Given the description of an element on the screen output the (x, y) to click on. 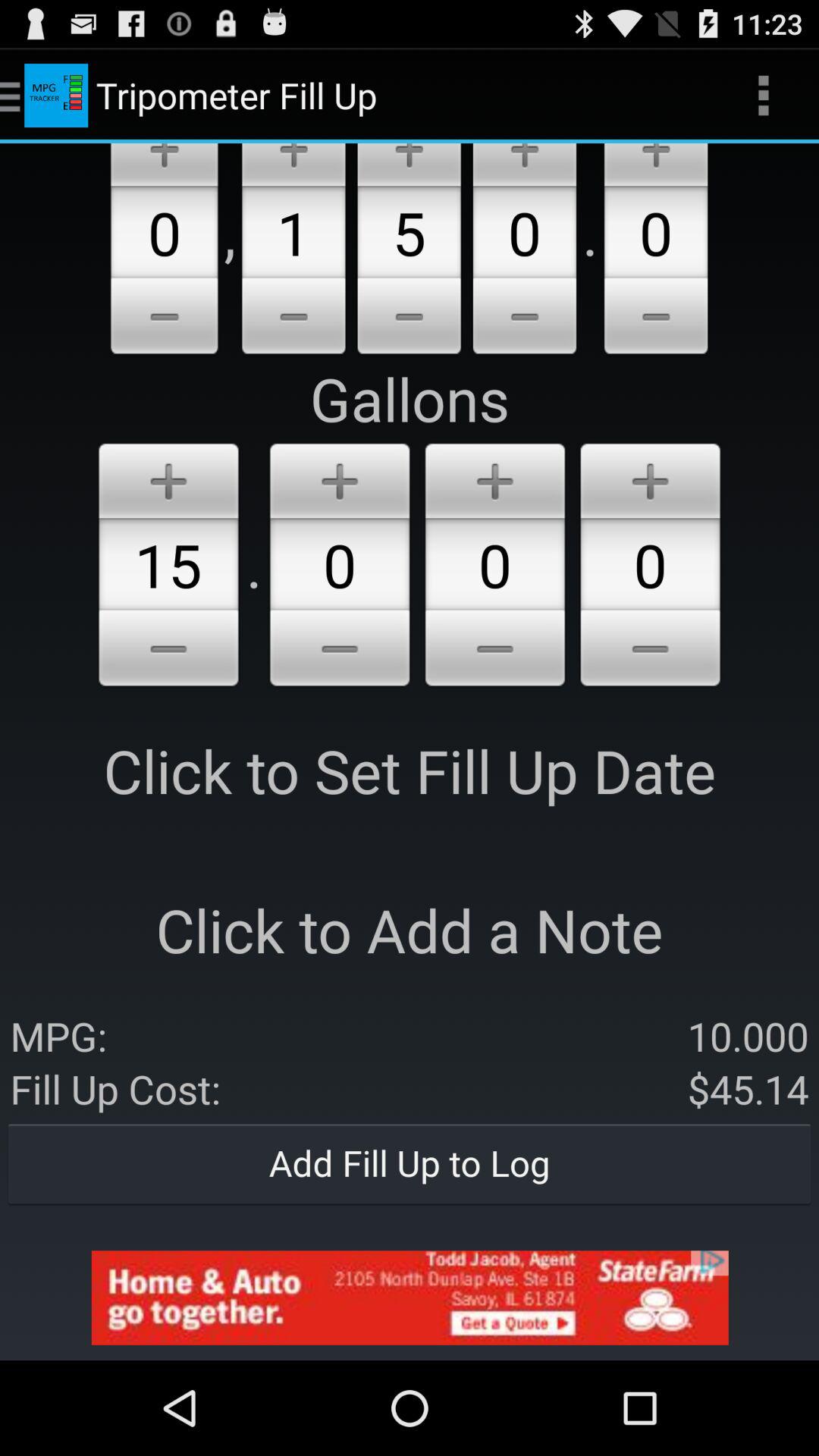
click to increase number (524, 164)
